Given the description of an element on the screen output the (x, y) to click on. 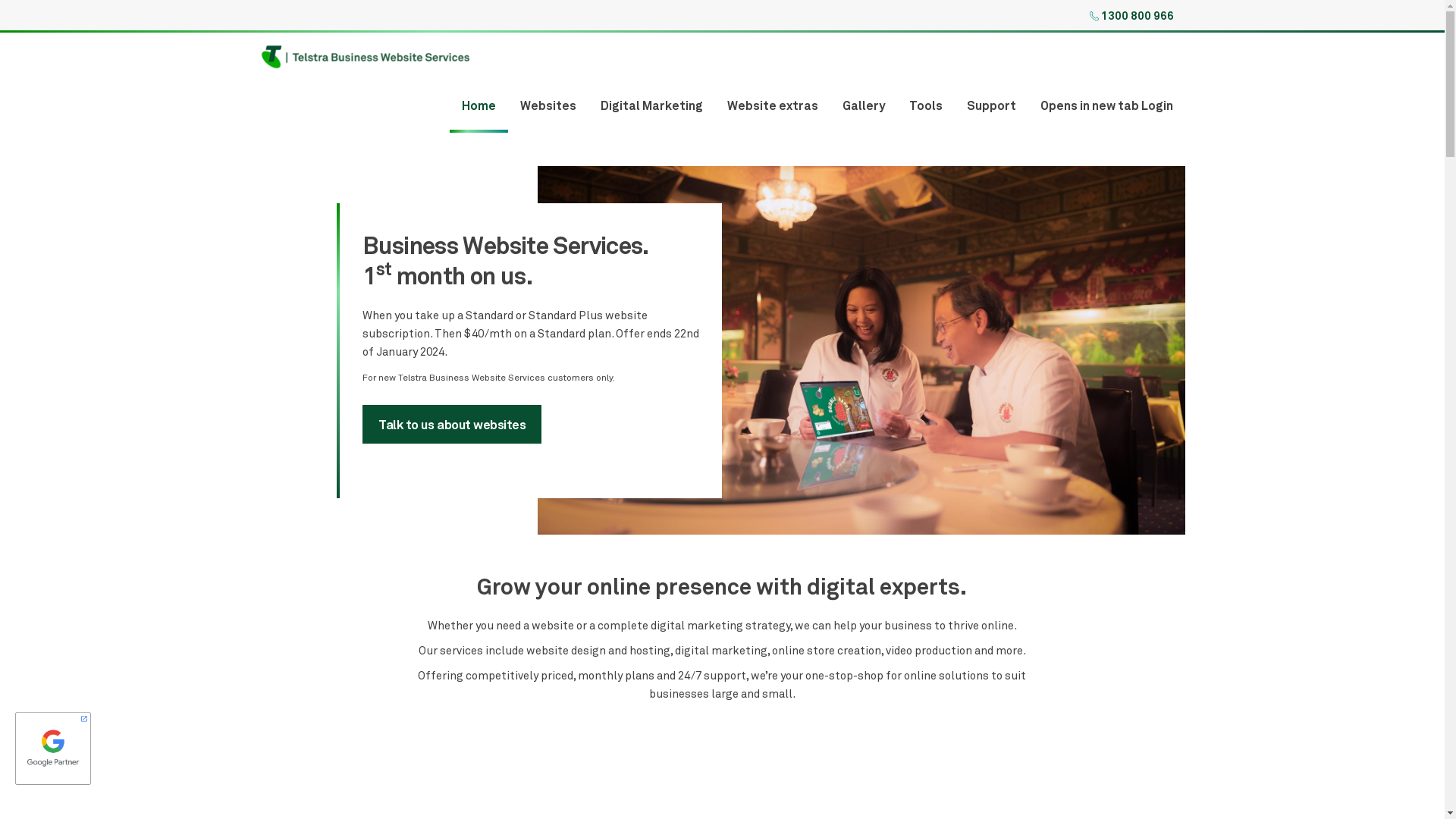
Gallery Element type: text (862, 106)
Websites Element type: text (548, 106)
Opens in new tab Login Element type: text (1106, 106)
1300 800 966 Element type: text (1143, 14)
Digital Marketing Element type: text (651, 106)
Talk to us about websites Element type: text (451, 423)
Tools Element type: text (924, 106)
Support Element type: text (990, 106)
Website extras Element type: text (771, 106)
Home Element type: text (477, 106)
